Given the description of an element on the screen output the (x, y) to click on. 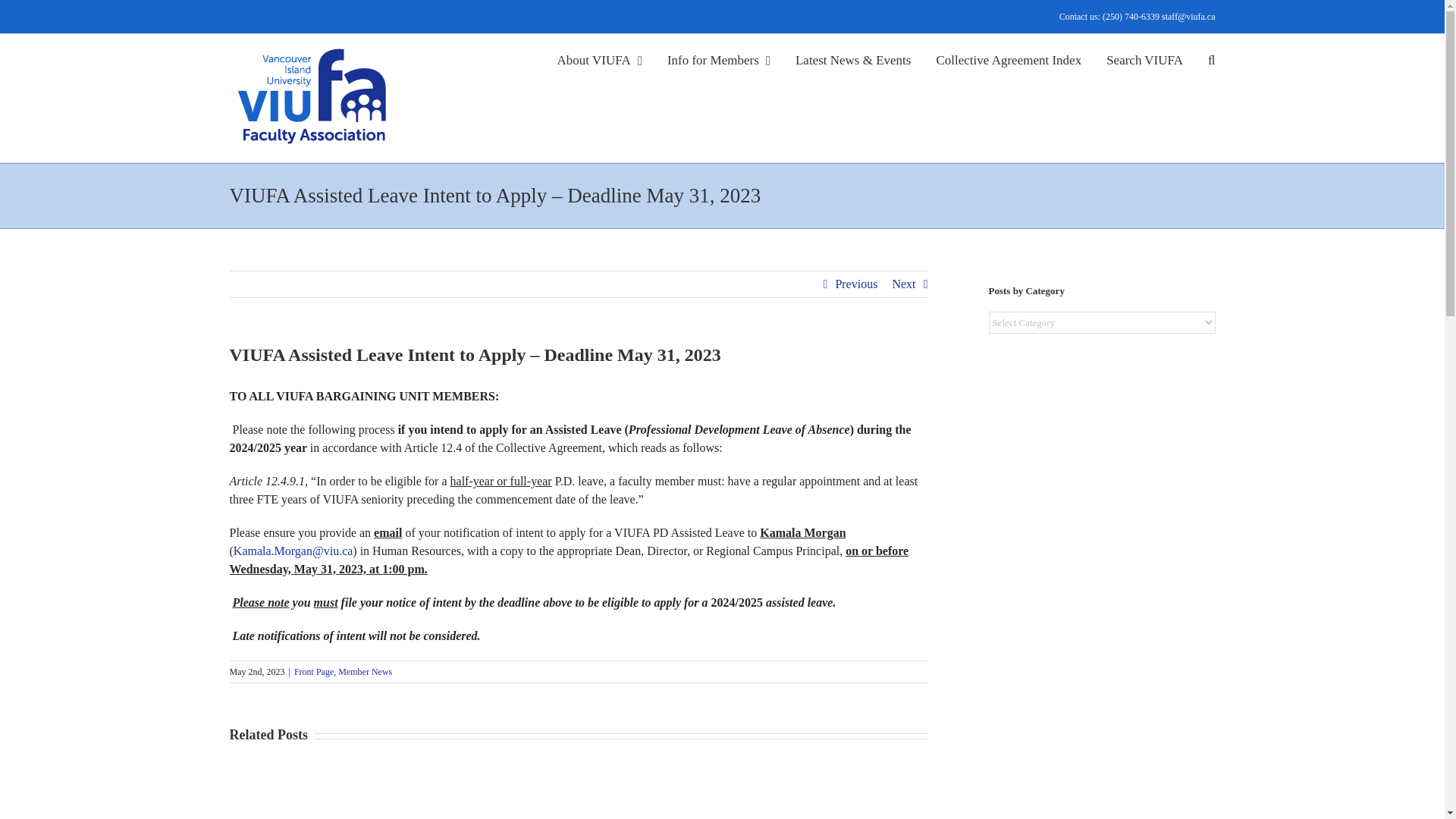
Previous (855, 284)
Front Page (313, 671)
Search VIUFA (1144, 58)
Info for Members (718, 58)
Member News (364, 671)
Next (903, 284)
Collective Agreement Index (1008, 58)
About VIUFA (599, 58)
